Given the description of an element on the screen output the (x, y) to click on. 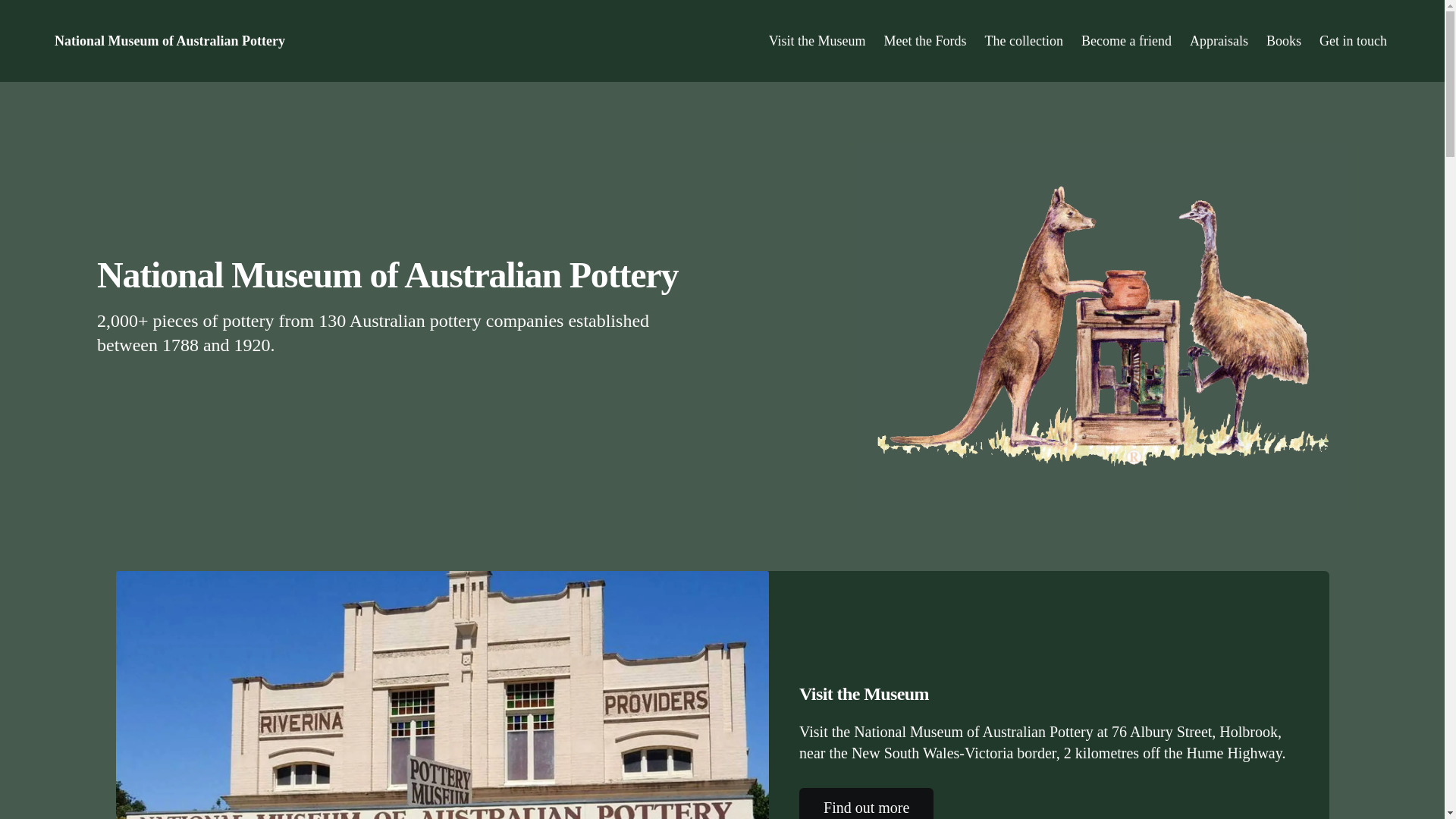
Get in touch Element type: text (1353, 40)
Appraisals Element type: text (1218, 40)
National Museum of
Australian Pottery Element type: text (169, 40)
Meet the Fords Element type: text (925, 40)
Visit the Museum Element type: text (817, 40)
The collection Element type: text (1023, 40)
Become a friend Element type: text (1126, 40)
Books Element type: text (1283, 40)
